Given the description of an element on the screen output the (x, y) to click on. 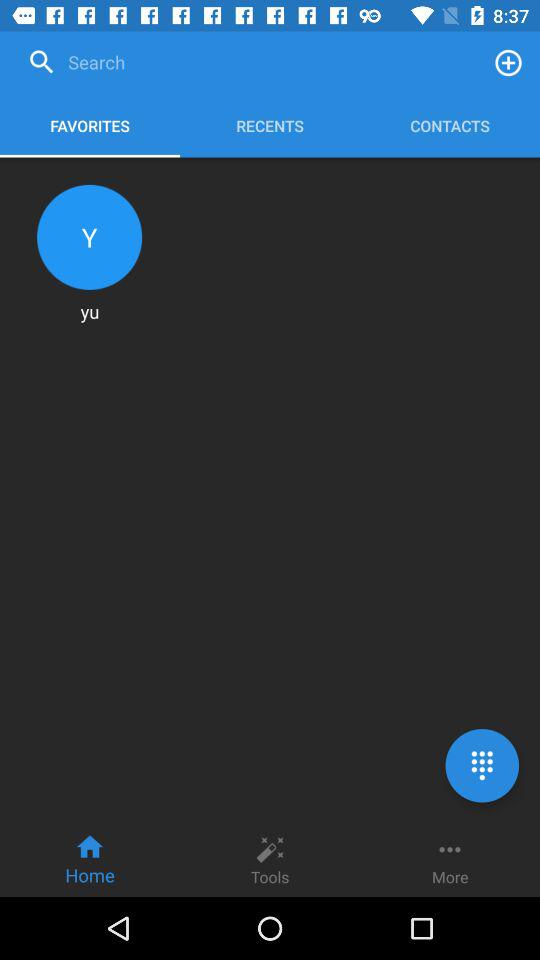
add a contact (508, 62)
